Given the description of an element on the screen output the (x, y) to click on. 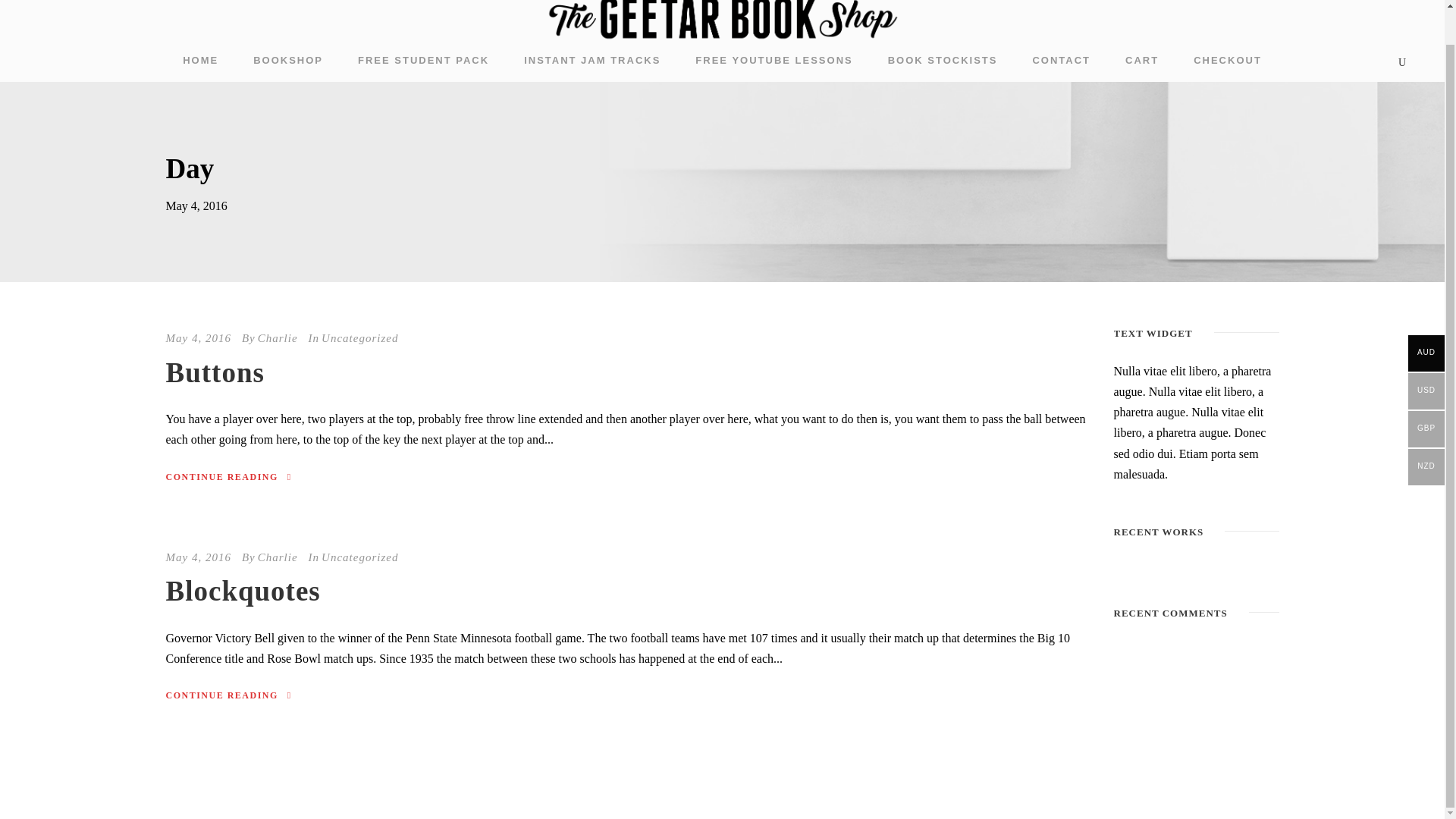
BOOKSHOP (288, 66)
Charlie (277, 337)
HOME (200, 66)
CART (1141, 66)
Posts by Charlie (277, 557)
May 4, 2016 (197, 337)
BOOK STOCKISTS (942, 66)
FREE STUDENT PACK (423, 66)
CHECKOUT (1227, 66)
Posts by Charlie (277, 337)
INSTANT JAM TRACKS (592, 66)
Uncategorized (359, 337)
CONTACT (1061, 66)
the guitar book shop logo long (721, 22)
FREE YOUTUBE LESSONS (773, 66)
